Given the description of an element on the screen output the (x, y) to click on. 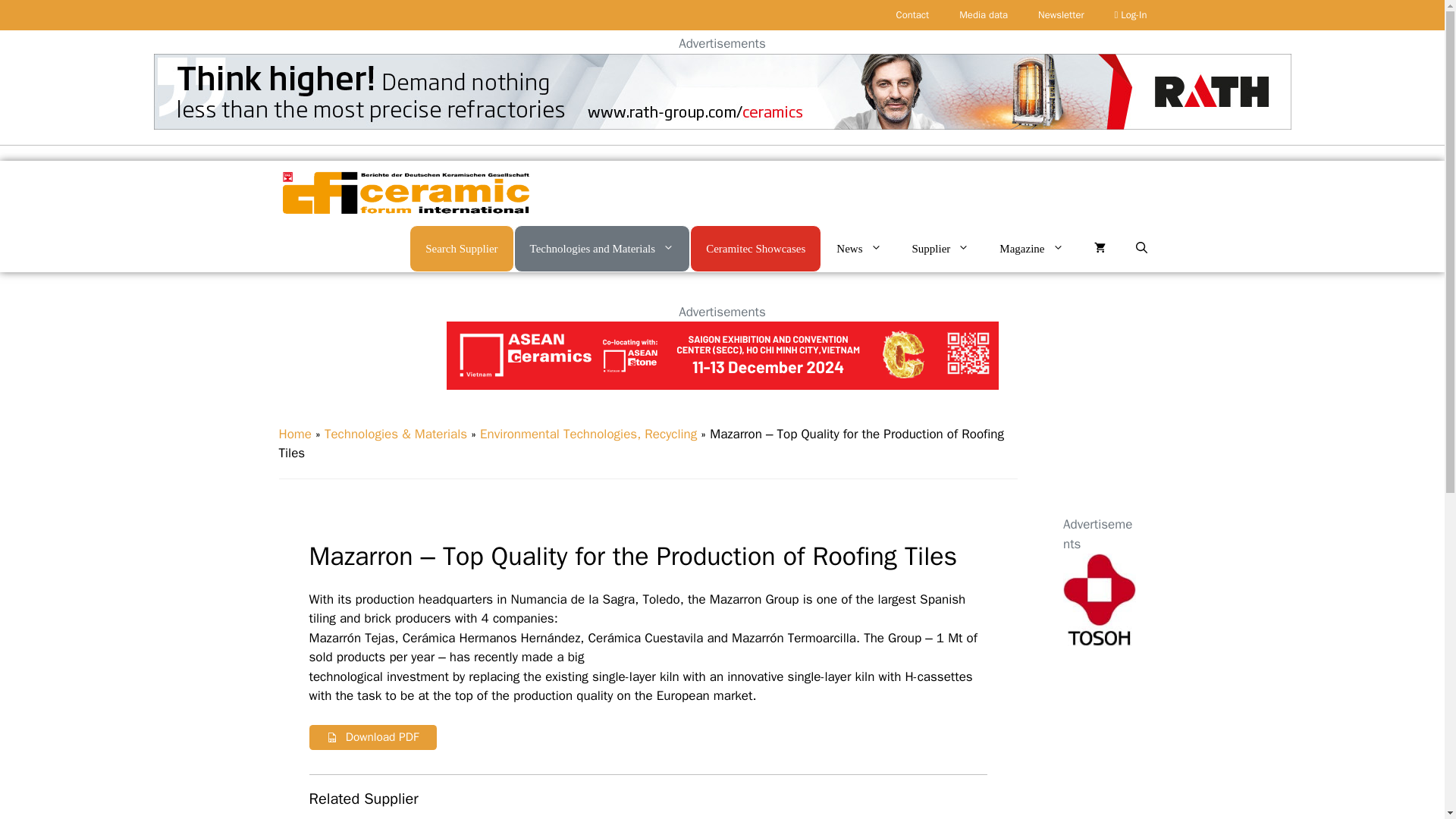
Supplier (940, 248)
View your shopping cart (1098, 248)
News (858, 248)
Newsletter (1061, 15)
Contact (912, 15)
cfi (405, 192)
Media data (983, 15)
Search Supplier (461, 247)
Technologies and Materials (601, 247)
Log-In (1130, 15)
